Given the description of an element on the screen output the (x, y) to click on. 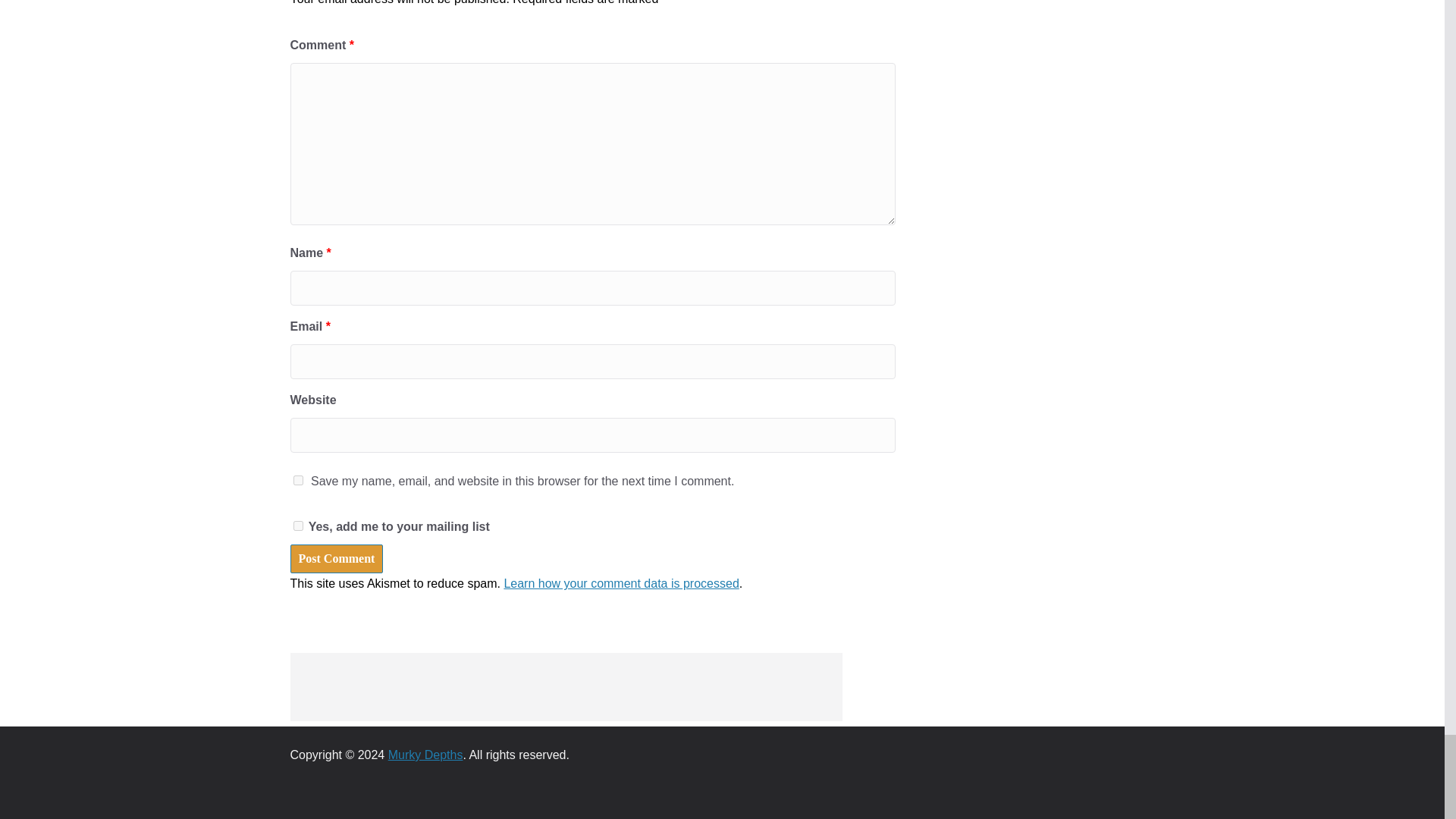
1 (297, 525)
Post Comment (335, 558)
yes (297, 480)
